Given the description of an element on the screen output the (x, y) to click on. 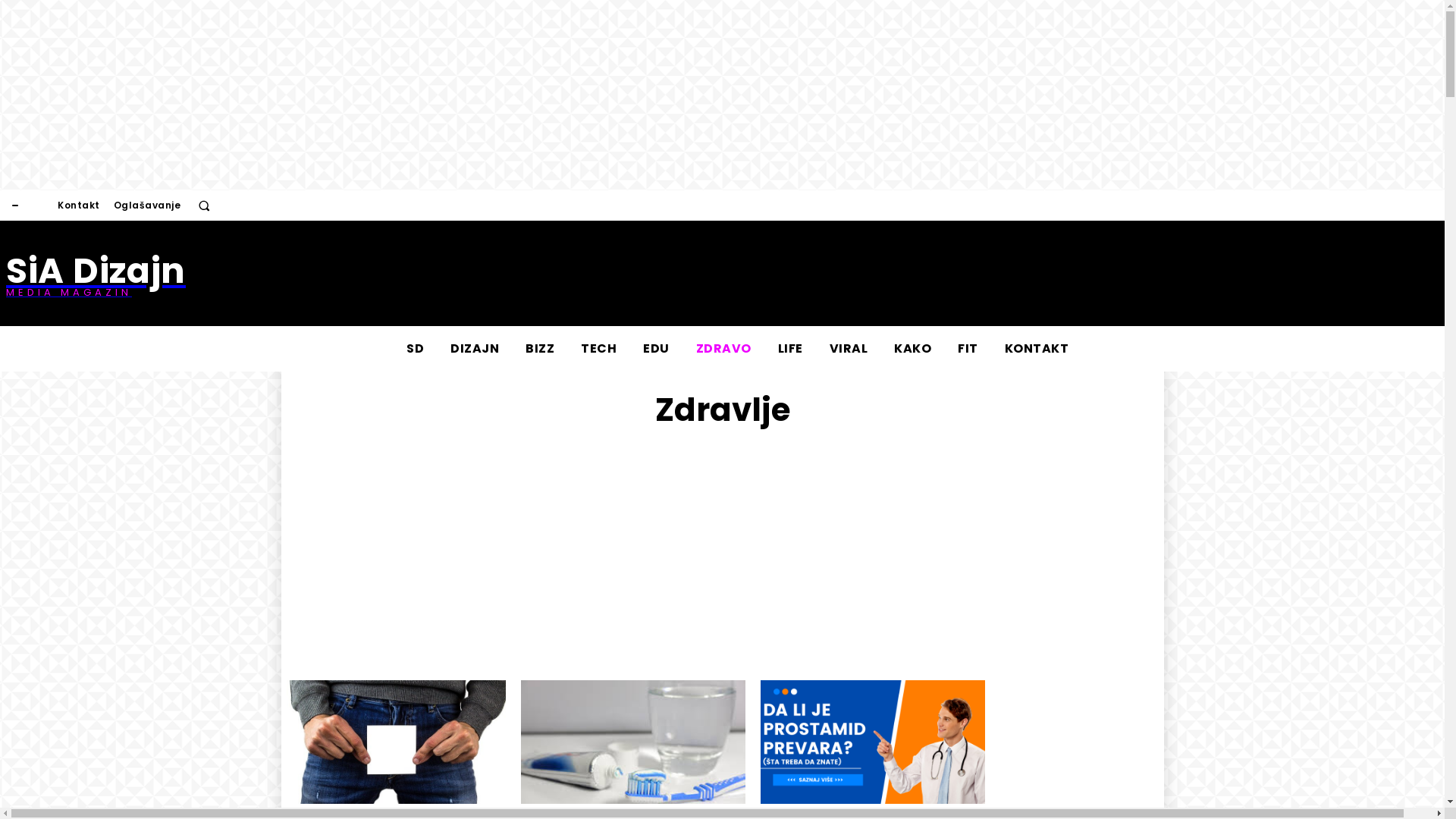
SiA Dizajn
MEDIA MAGAZIN Element type: text (95, 273)
KONTAKT Element type: text (1036, 348)
DIZAJN Element type: text (474, 348)
TECH Element type: text (598, 348)
VIRAL Element type: text (847, 348)
ZDRAVO Element type: text (723, 348)
Advertisement Element type: hover (497, 273)
SD Element type: text (415, 348)
Prosjecna Velicina Penisa Element type: hover (392, 741)
Da li je Prostamid Prevara? Element type: hover (871, 741)
EDU Element type: text (655, 348)
Kontakt Element type: text (78, 205)
Advertisement Element type: hover (721, 554)
FIT Element type: text (967, 348)
KAKO Element type: text (912, 348)
LIFE Element type: text (789, 348)
BIZZ Element type: text (539, 348)
